Given the description of an element on the screen output the (x, y) to click on. 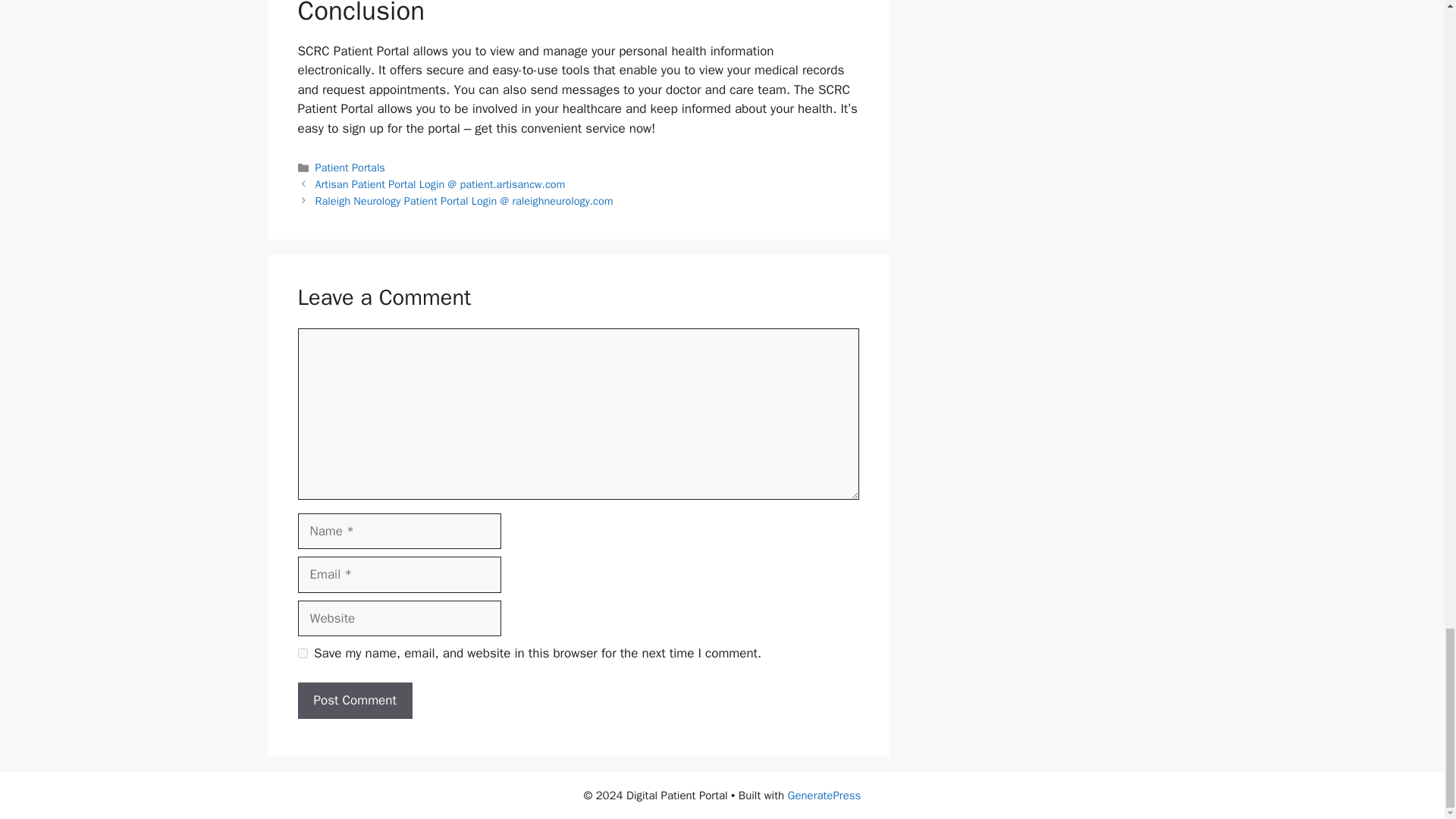
Next (463, 201)
yes (302, 653)
Patient Portals (350, 167)
Post Comment (354, 700)
Post Comment (354, 700)
Previous (440, 183)
